Given the description of an element on the screen output the (x, y) to click on. 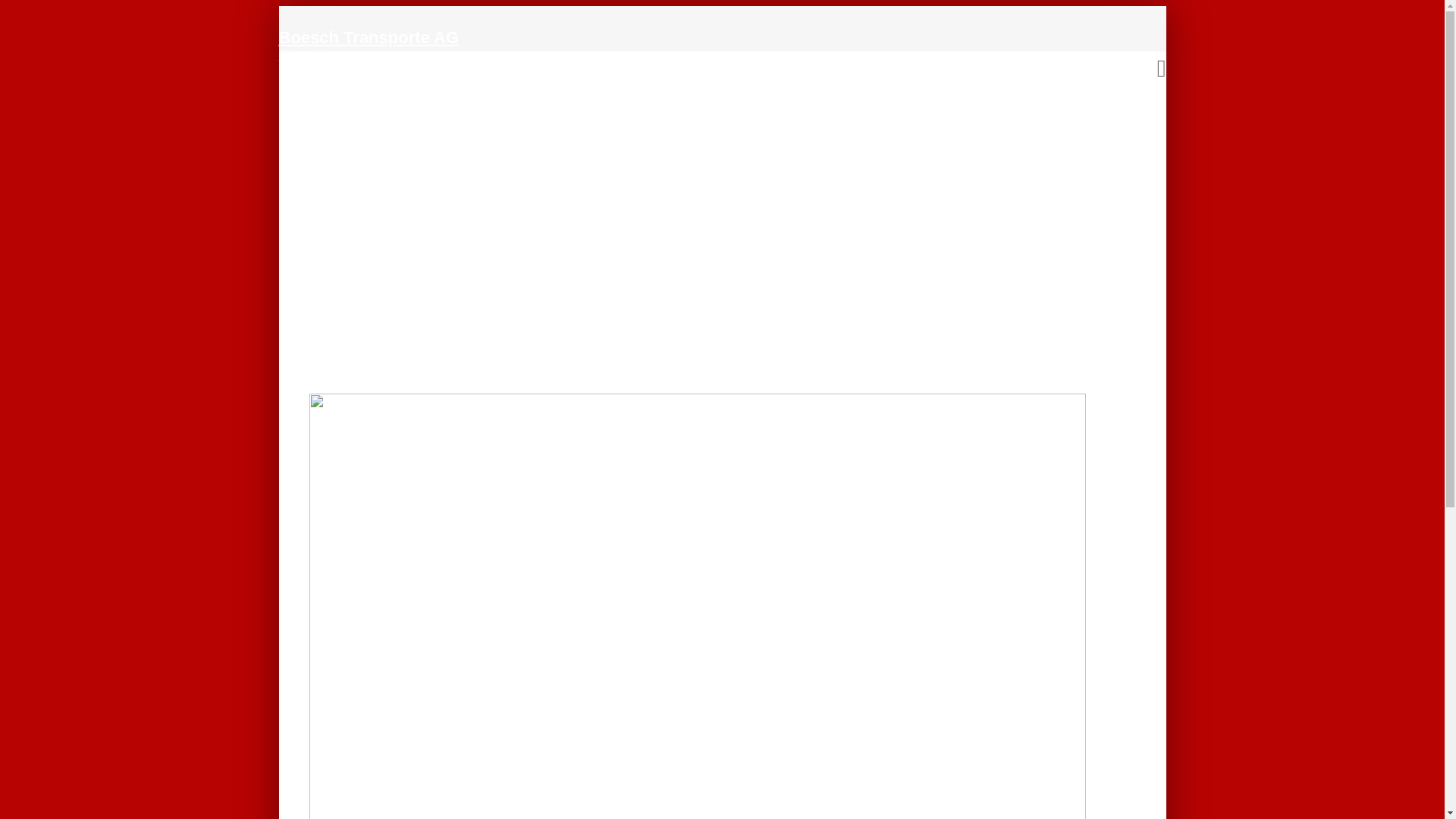
Oberriet Element type: text (421, 55)
Boesch Transporte AG Element type: text (452, 38)
